Given the description of an element on the screen output the (x, y) to click on. 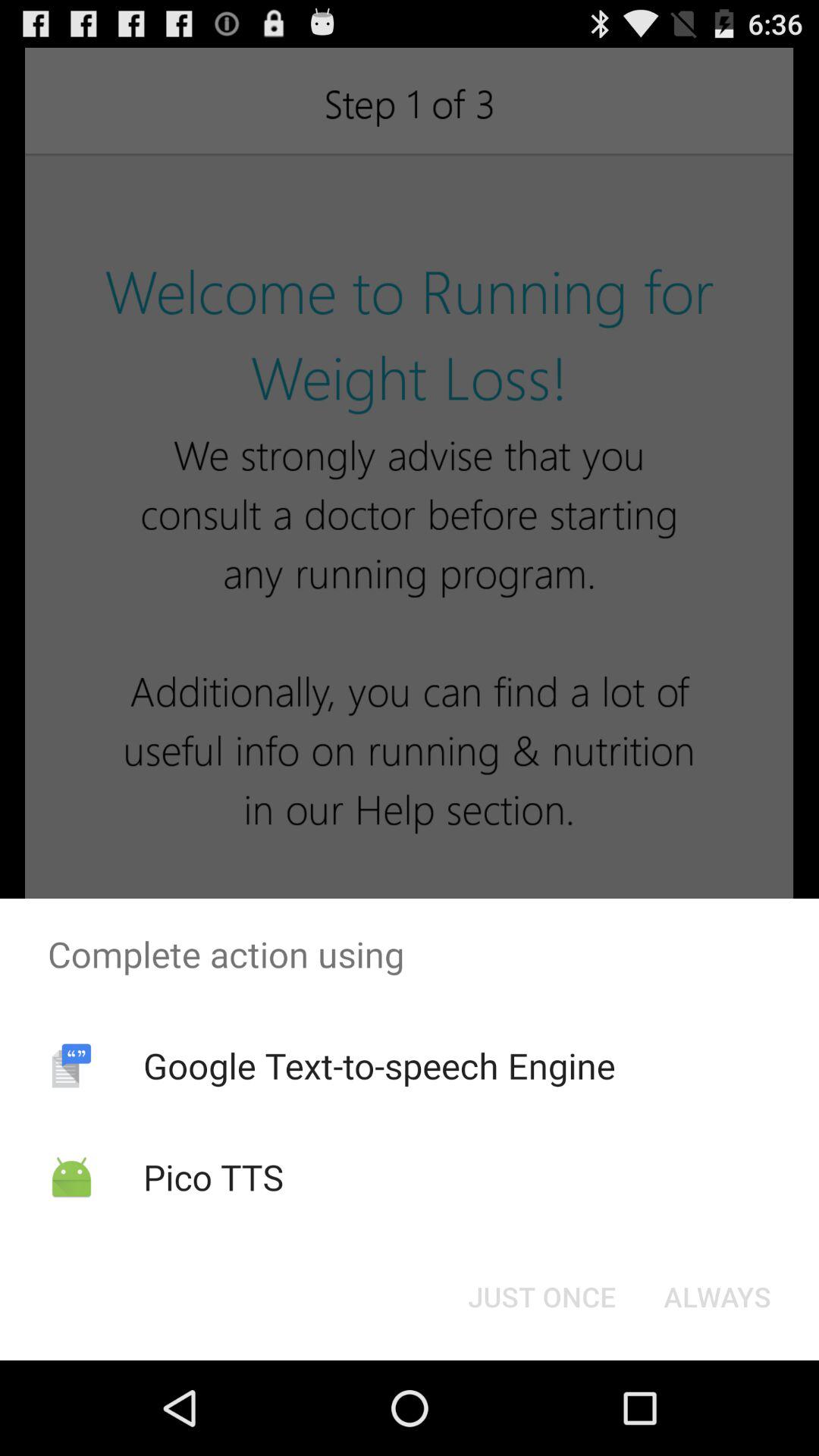
click pico tts item (213, 1176)
